Given the description of an element on the screen output the (x, y) to click on. 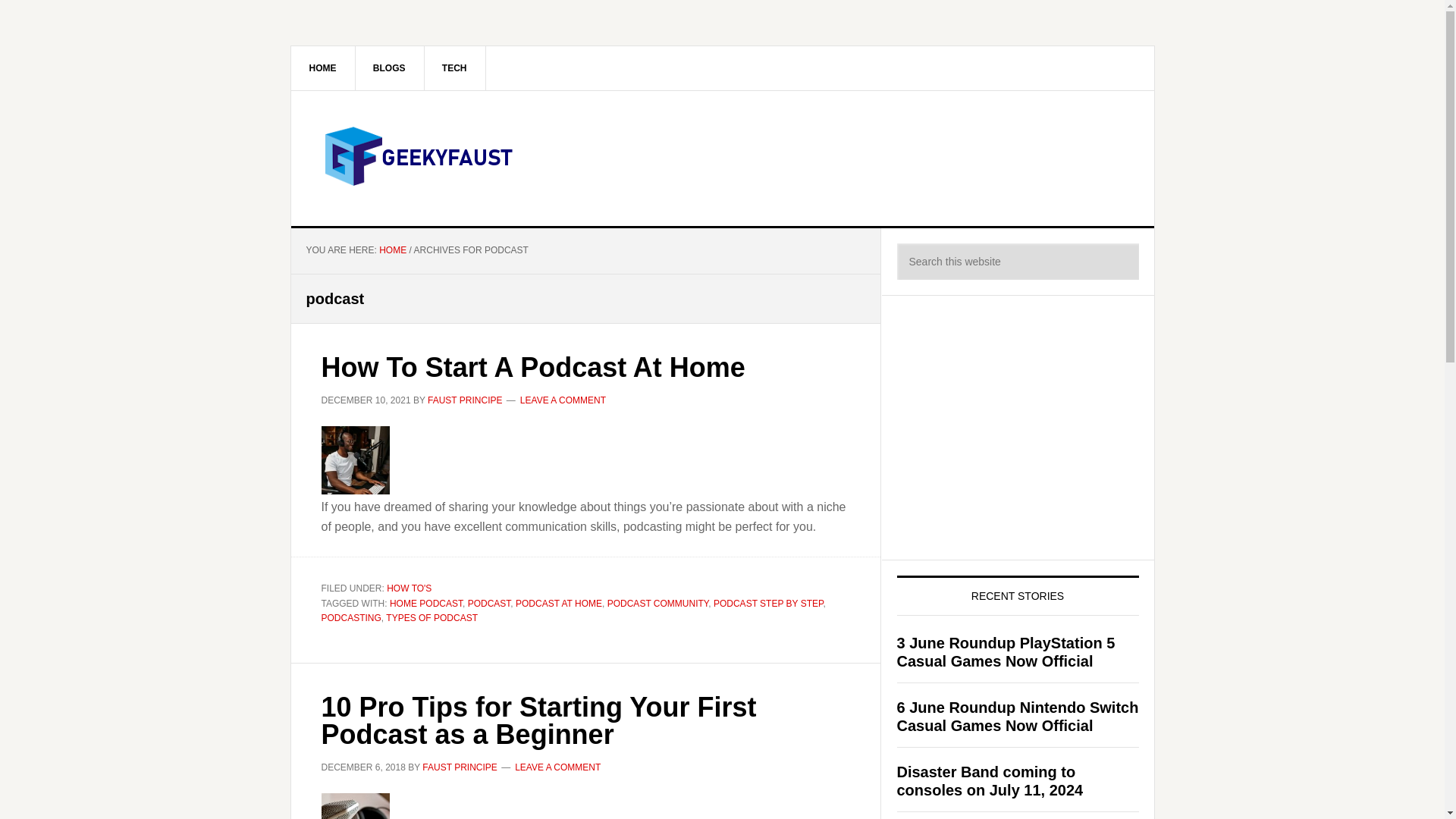
TYPES OF PODCAST (431, 617)
TECH (454, 67)
BLOGS (390, 67)
HOW TO'S (408, 588)
HOME (323, 67)
LEAVE A COMMENT (562, 398)
HOME PODCAST (426, 602)
Advertisement (1010, 424)
How To Start A Podcast At Home (533, 367)
HOME (392, 249)
PODCAST (489, 602)
FAUST PRINCIPE (465, 398)
PODCAST STEP BY STEP (768, 602)
10 Pro Tips for Starting Your First Podcast as a Beginner (539, 720)
FAUST PRINCIPE (459, 766)
